Given the description of an element on the screen output the (x, y) to click on. 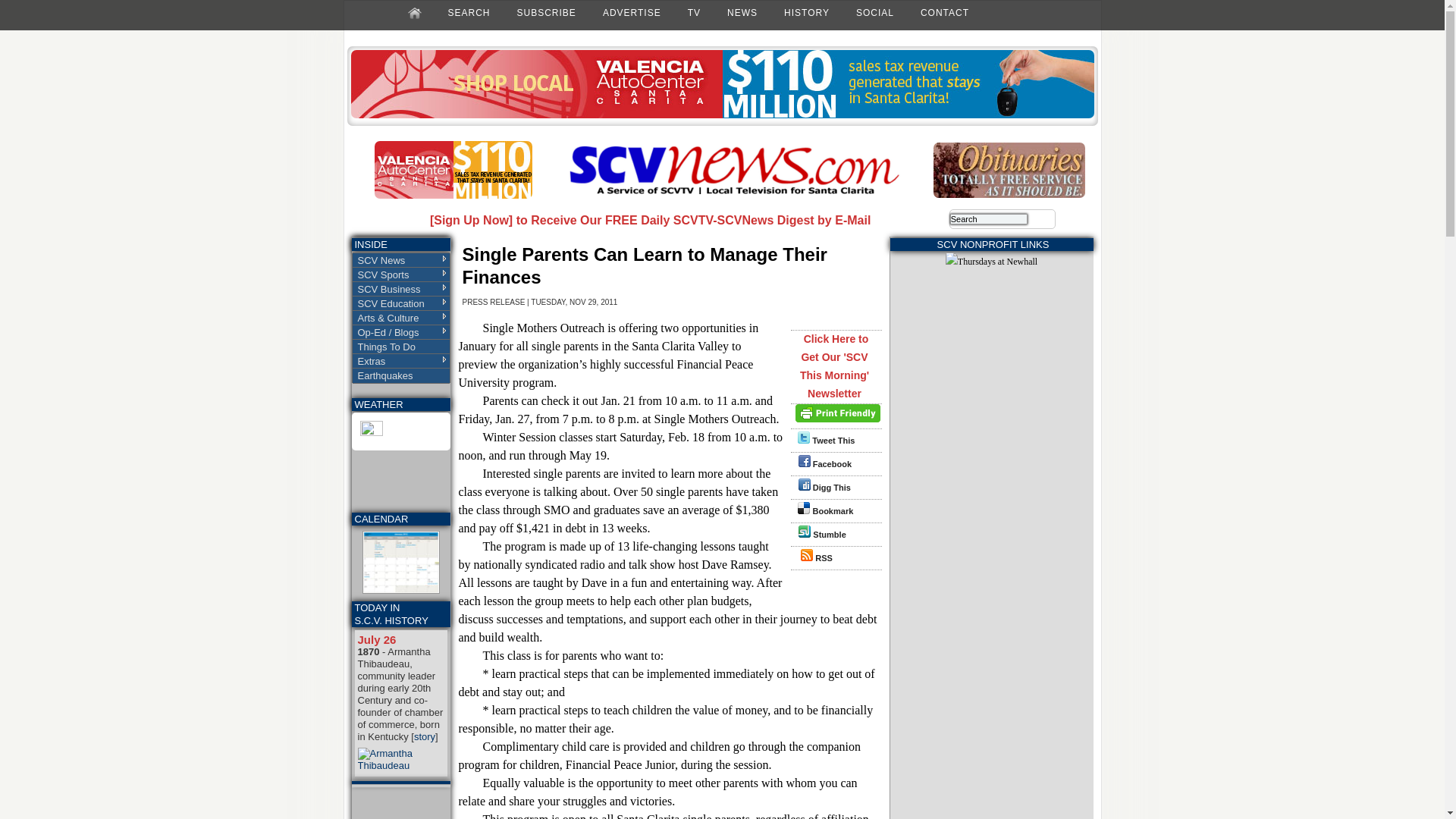
SUBSCRIBE (546, 12)
Auto Mall (721, 114)
Posts by Press Release (494, 302)
NEWS (742, 12)
Auto Mall (453, 195)
Search (988, 218)
Obituaries (1008, 194)
TV (693, 12)
ADVERTISE (631, 12)
SEARCH (468, 12)
